Given the description of an element on the screen output the (x, y) to click on. 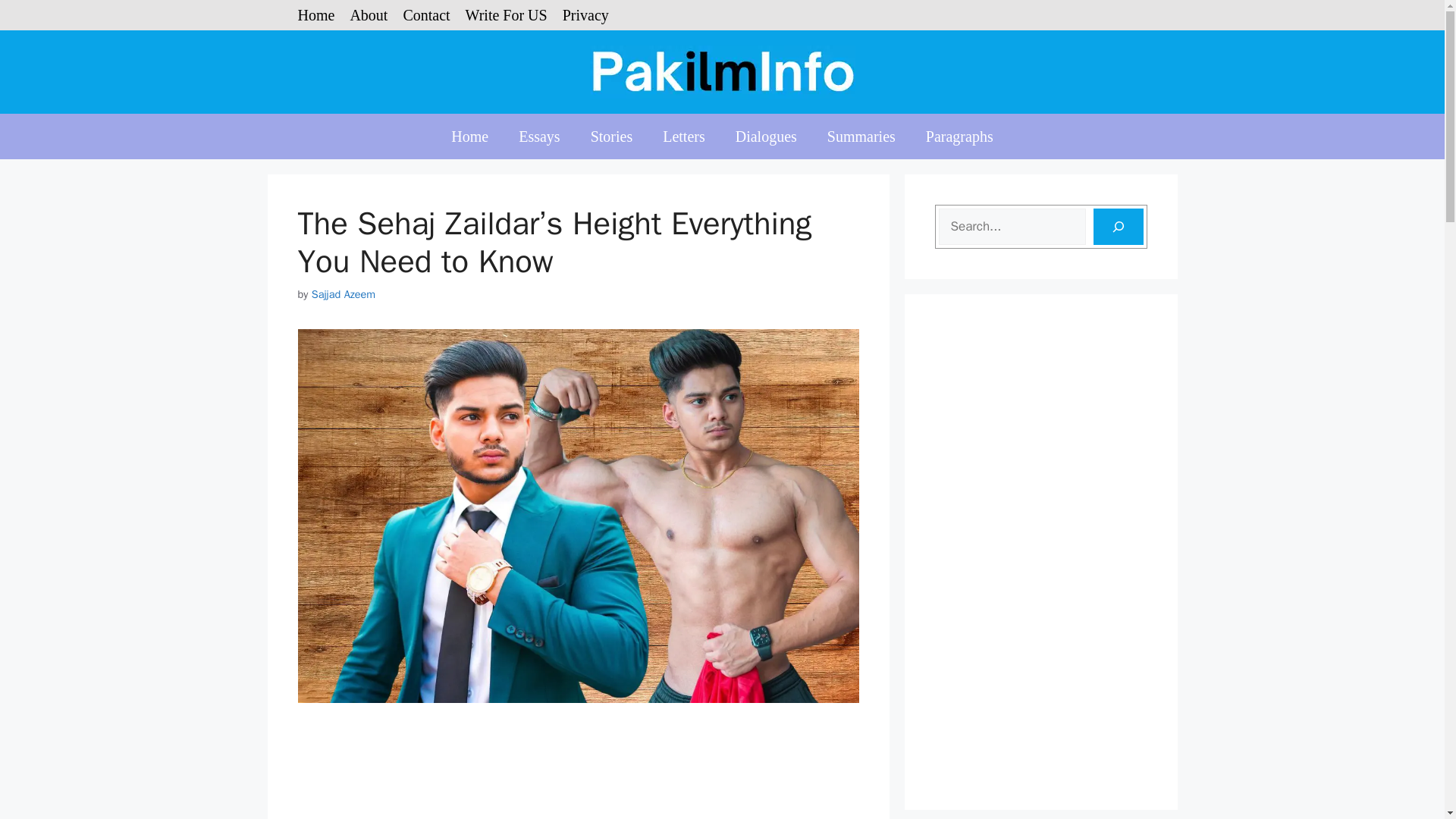
Paragraphs (960, 135)
Stories (611, 135)
Advertisement (578, 773)
Contact (426, 14)
Write For US (506, 14)
View all posts by Sajjad Azeem (343, 294)
Home (315, 14)
Home (469, 135)
Letters (683, 135)
Essays (539, 135)
Summaries (861, 135)
About (368, 14)
Dialogues (766, 135)
Privacy (585, 14)
Sajjad Azeem (343, 294)
